Given the description of an element on the screen output the (x, y) to click on. 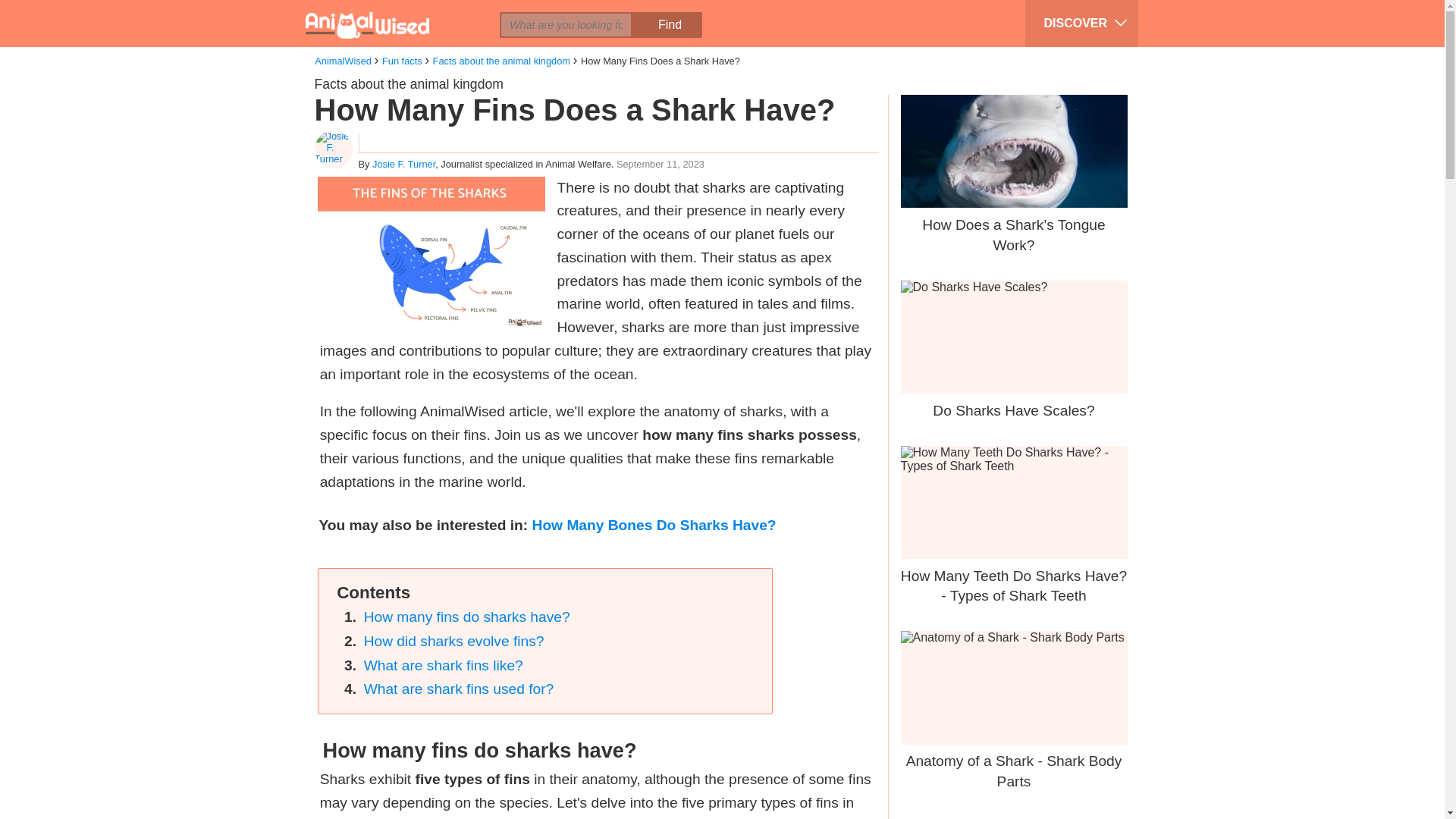
Fun facts (401, 60)
whatsapp (456, 12)
How did sharks evolve fins? (454, 641)
Josie F. Turner (403, 163)
Facts about the animal kingdom (408, 83)
How Many Bones Do Sharks Have? (654, 524)
How many fins do sharks have? (467, 616)
facebook (370, 12)
Find (668, 24)
What are shark fins like? (443, 665)
Facts about the animal kingdom (501, 60)
twitter (399, 12)
descargar (514, 12)
AnimalWised (342, 60)
pinterest (427, 12)
